Given the description of an element on the screen output the (x, y) to click on. 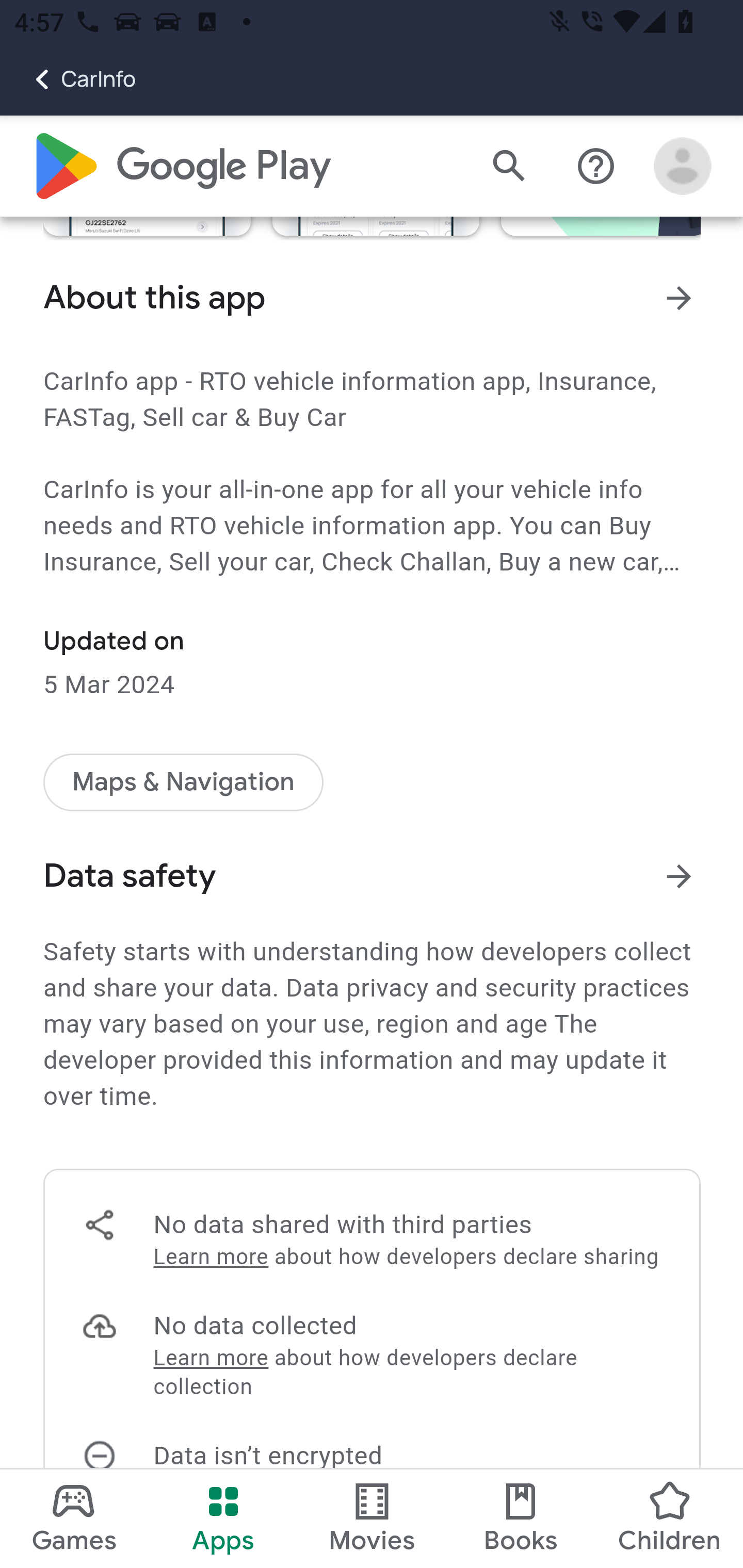
CarInfo (67, 79)
Google Play logo (180, 166)
Search (508, 166)
Help centre (596, 166)
Open account menu (682, 166)
See more information on About this app (679, 298)
Maps & Navigation (184, 782)
See more information on Data safety (679, 876)
Learn more (209, 1257)
Learn more (209, 1358)
Games (74, 1518)
Apps (222, 1518)
Movies (372, 1518)
Books (520, 1518)
Children (668, 1518)
